Given the description of an element on the screen output the (x, y) to click on. 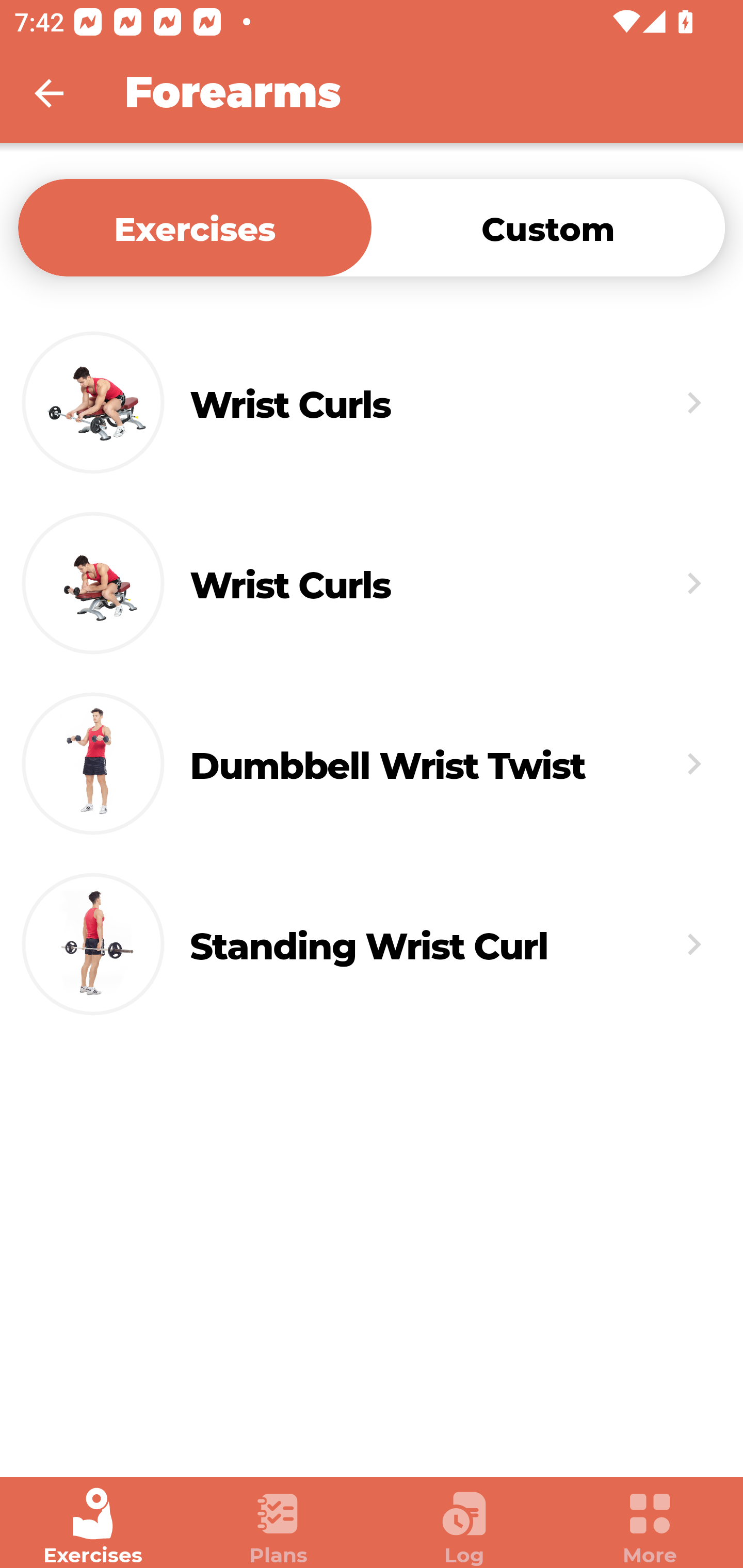
Back (62, 92)
Exercises (194, 226)
Custom (548, 226)
Exercises (92, 1527)
Plans (278, 1527)
Log (464, 1527)
More (650, 1527)
